Given the description of an element on the screen output the (x, y) to click on. 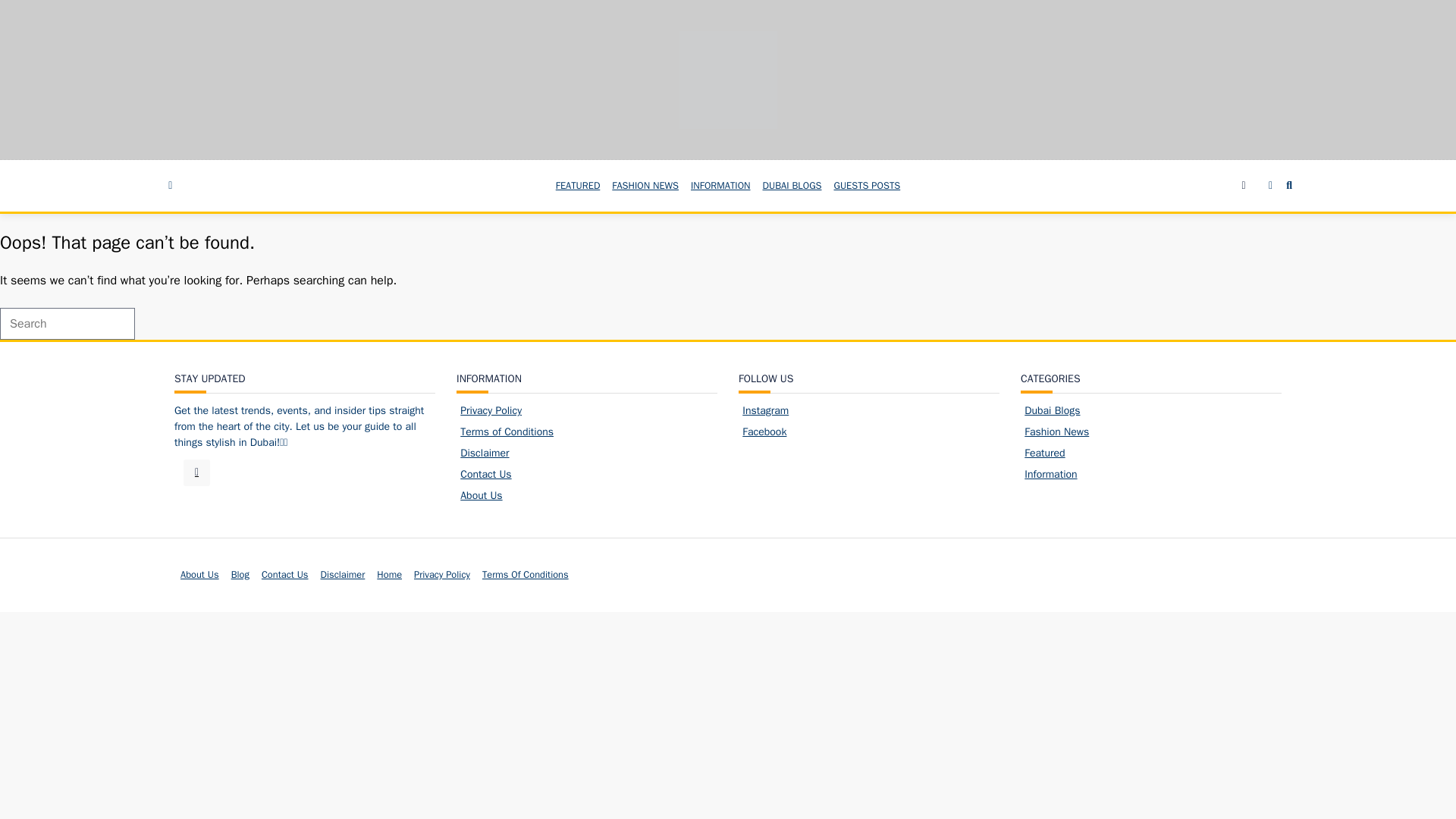
FASHION NEWS (644, 185)
INFORMATION (720, 185)
Fashion News (1057, 431)
FEATURED (578, 185)
Privacy Policy (490, 410)
Terms of Conditions (506, 431)
Dubai Blogs (1052, 410)
Disclaimer (484, 452)
Contact Us (485, 473)
DUBAI BLOGS (792, 185)
